Given the description of an element on the screen output the (x, y) to click on. 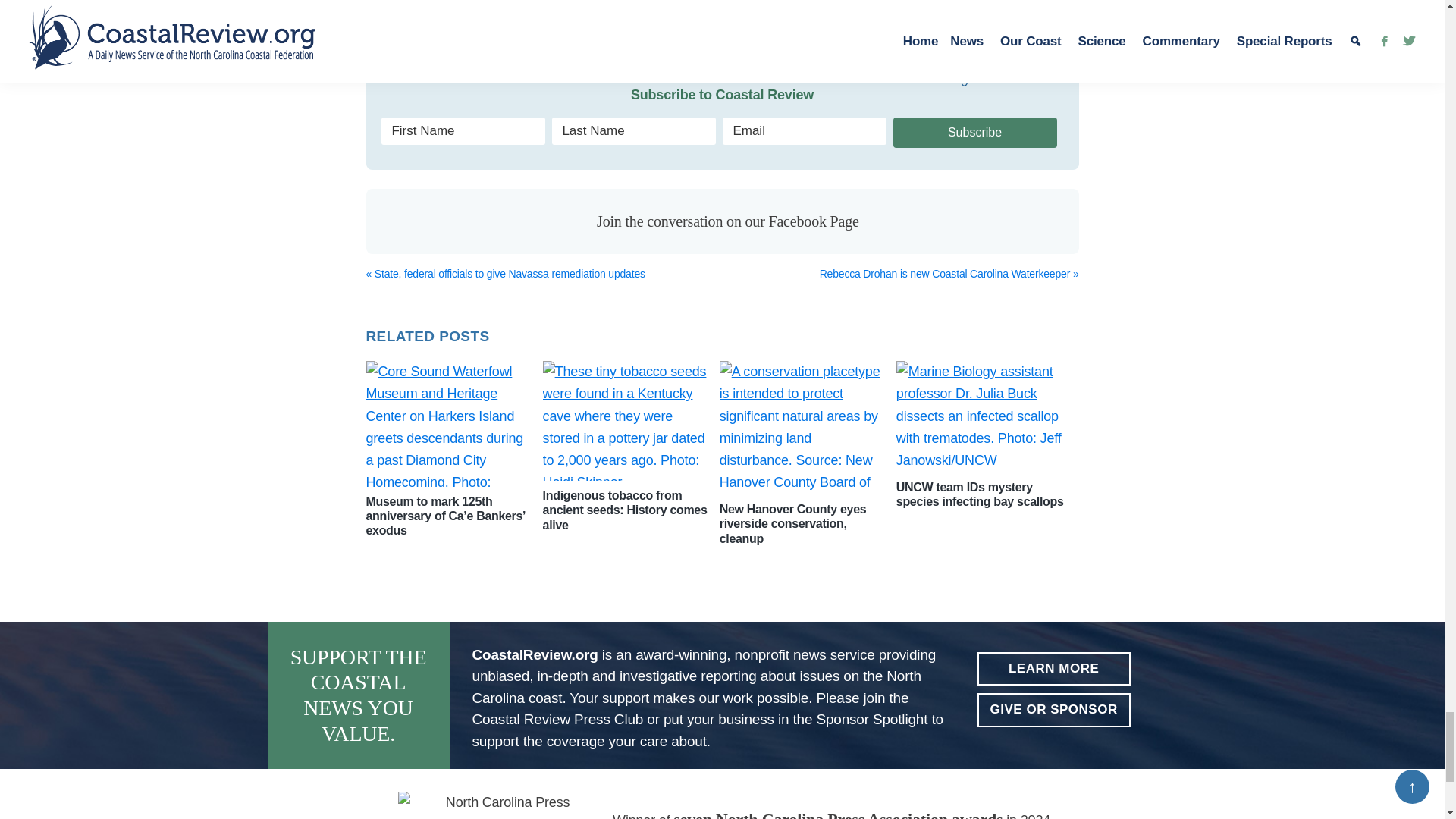
Subscribe (975, 132)
